Given the description of an element on the screen output the (x, y) to click on. 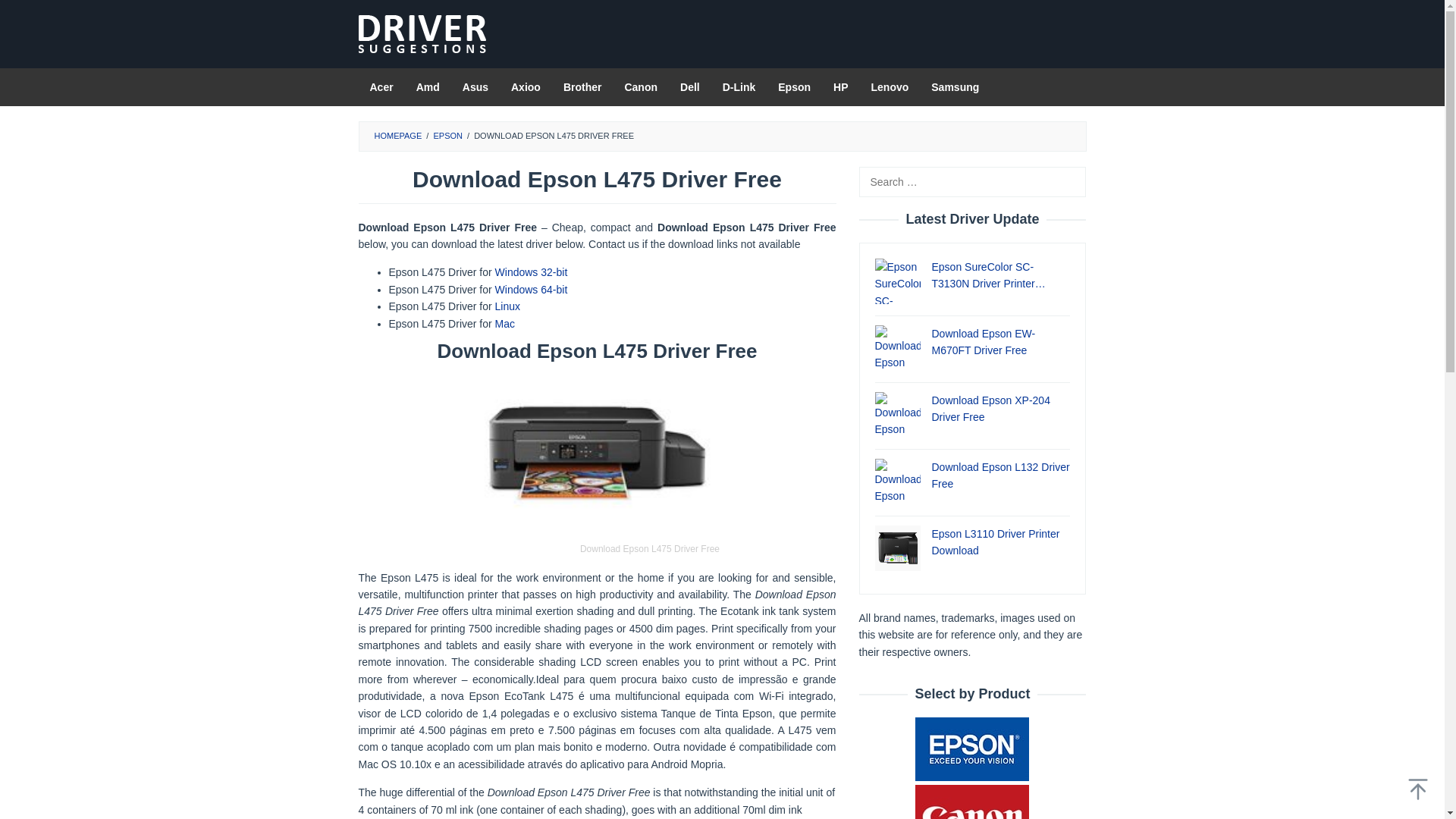
Asus (475, 86)
Acer (381, 86)
Canon (640, 86)
Epson L475 driver (507, 306)
Windows 64-bit (531, 289)
Brother (581, 86)
Epson L475 driver (531, 289)
Driver Suggestions (421, 33)
Dell (689, 86)
Amd (427, 86)
Epson L475 driver (531, 272)
HP (840, 86)
Linux (507, 306)
Epson (794, 86)
